Given the description of an element on the screen output the (x, y) to click on. 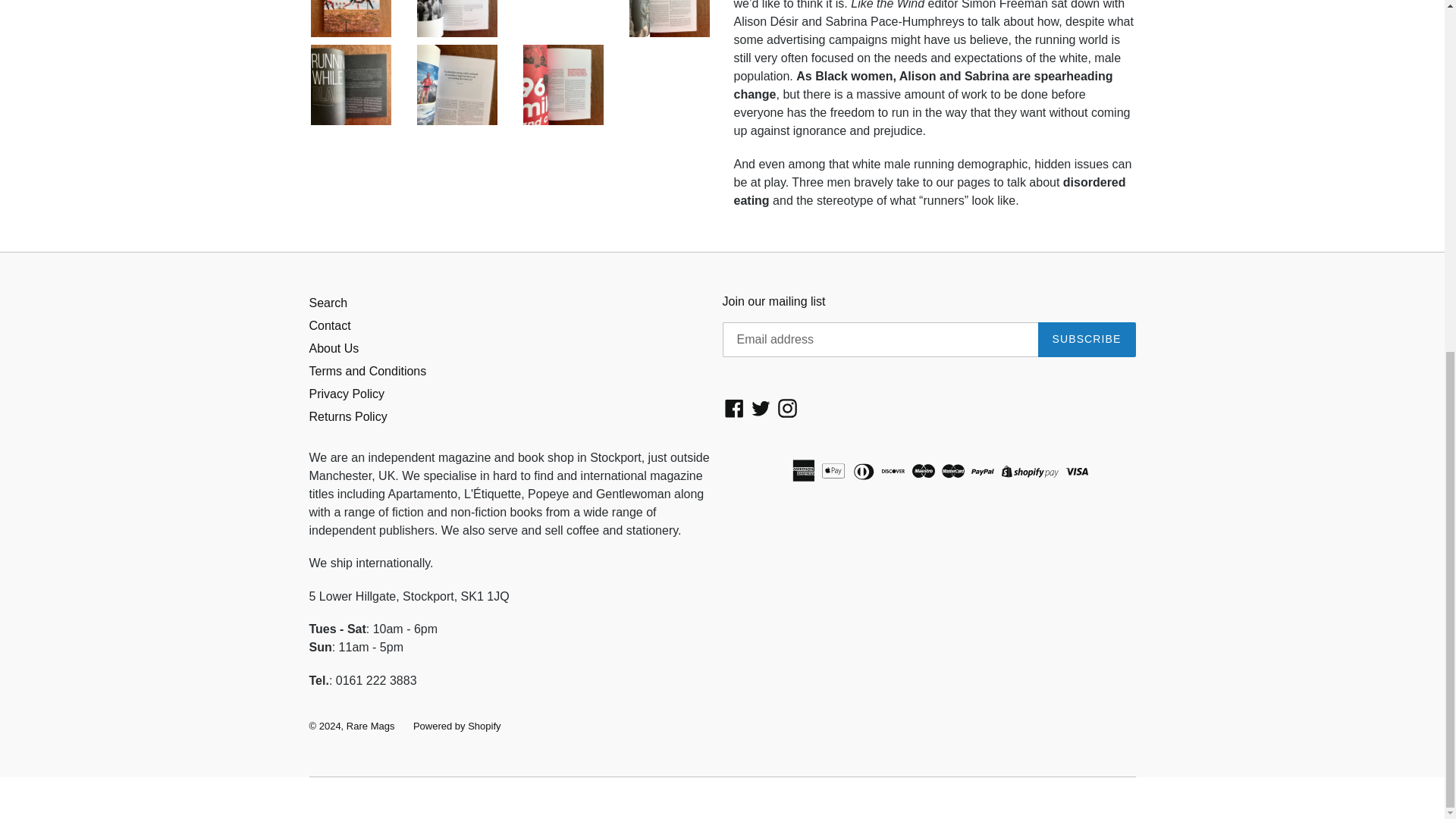
Rare Mags on Facebook (733, 407)
Rare Mags on Twitter (761, 407)
Rare Mags on Instagram (787, 407)
